Given the description of an element on the screen output the (x, y) to click on. 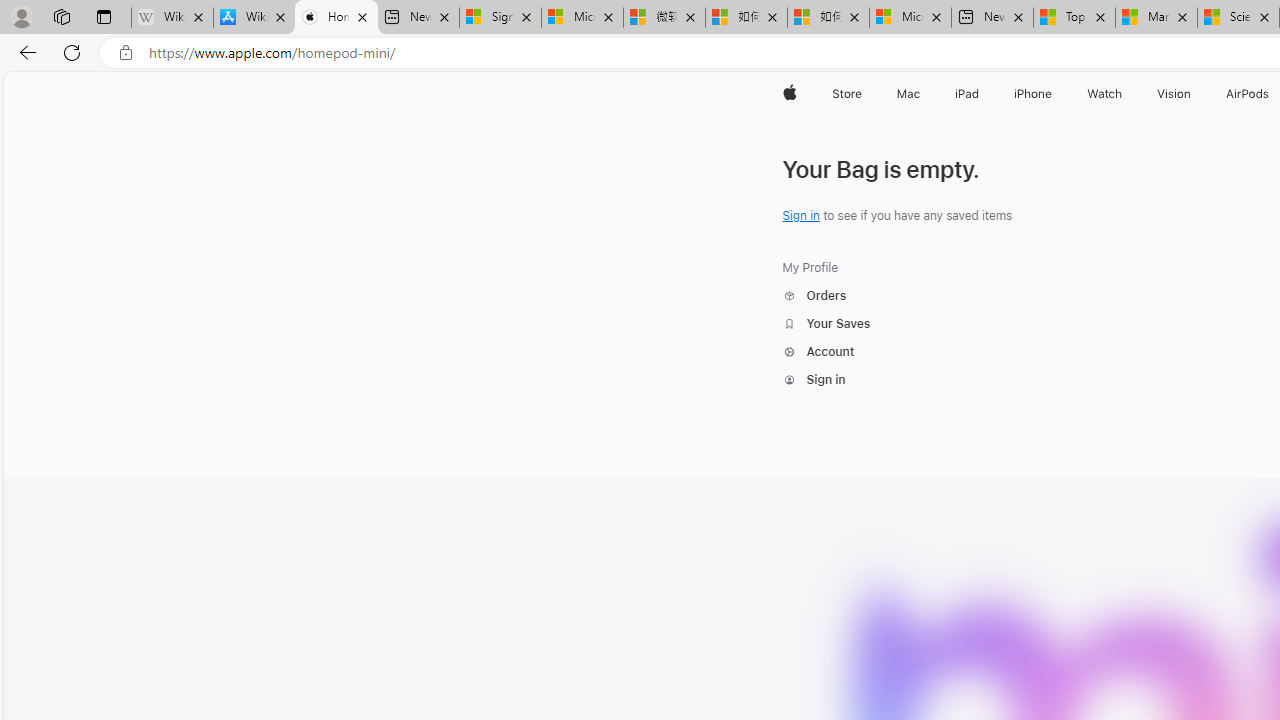
Store (846, 93)
iPhone (1033, 93)
Apple (789, 93)
iPad menu (982, 93)
AirPods (1247, 93)
Orders (826, 296)
Mac menu (922, 93)
Store menu (864, 93)
HomePod mini (851, 142)
Vision menu (1195, 93)
